Given the description of an element on the screen output the (x, y) to click on. 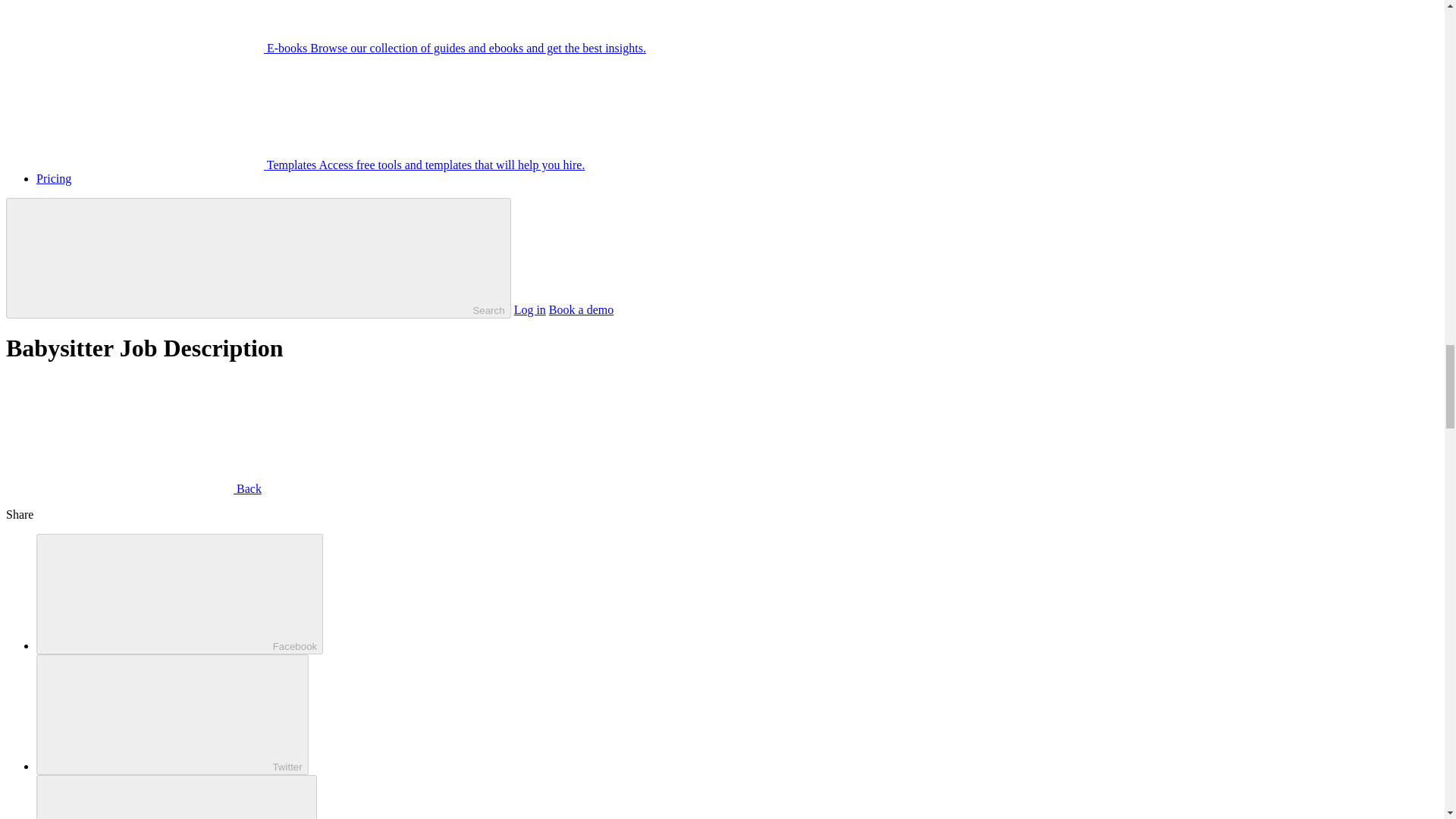
Back (133, 488)
Search (258, 258)
Facebook (179, 593)
Pricing (53, 178)
Book a demo (580, 309)
Log in (529, 309)
